Given the description of an element on the screen output the (x, y) to click on. 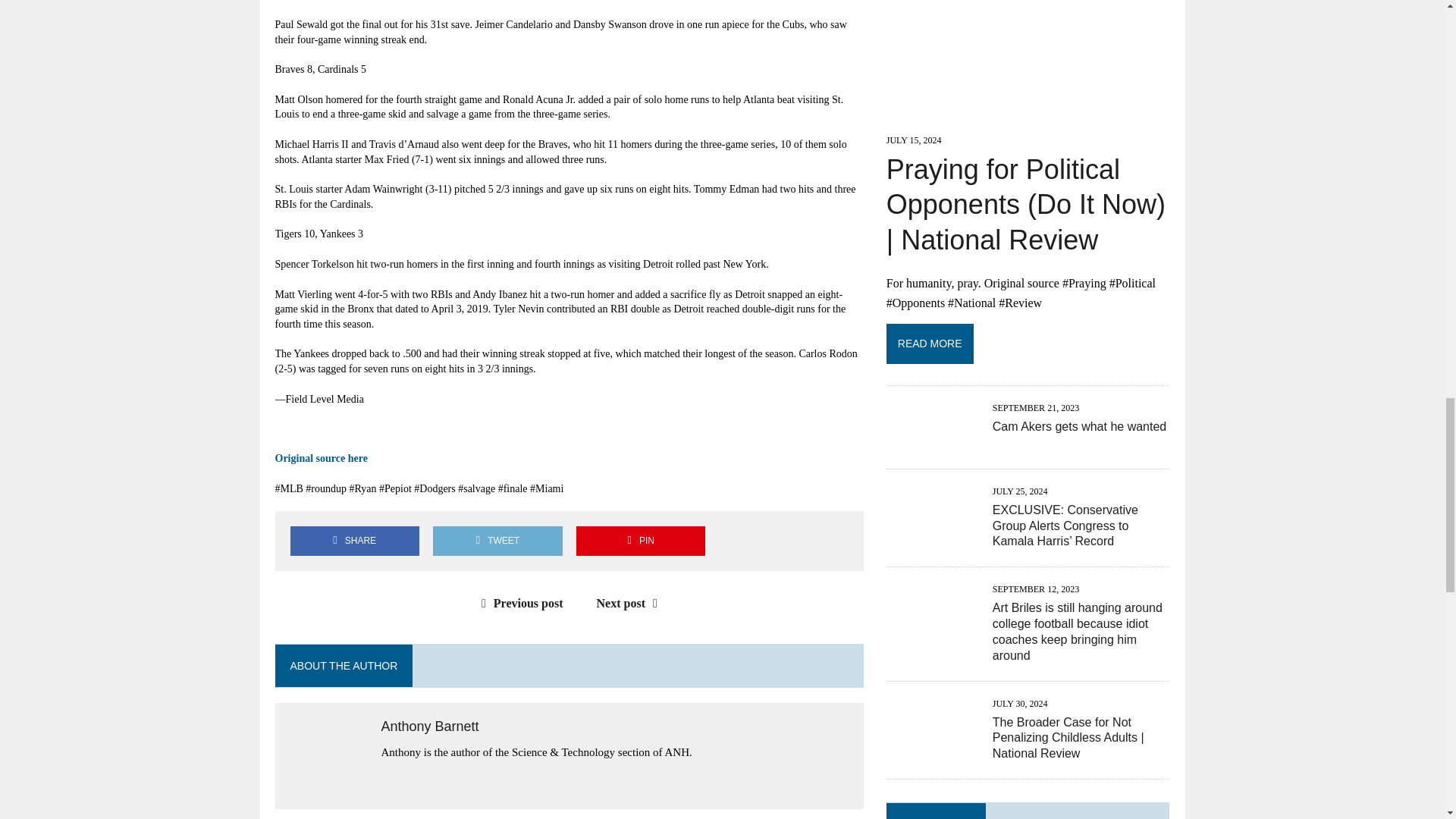
SHARE (354, 541)
Next post (630, 603)
Pin This Post (640, 541)
Tweet This Post (497, 541)
PIN (640, 541)
Original source here (320, 458)
Anthony Barnett (429, 726)
Share on Facebook (354, 541)
TWEET (497, 541)
Previous post (518, 603)
